Given the description of an element on the screen output the (x, y) to click on. 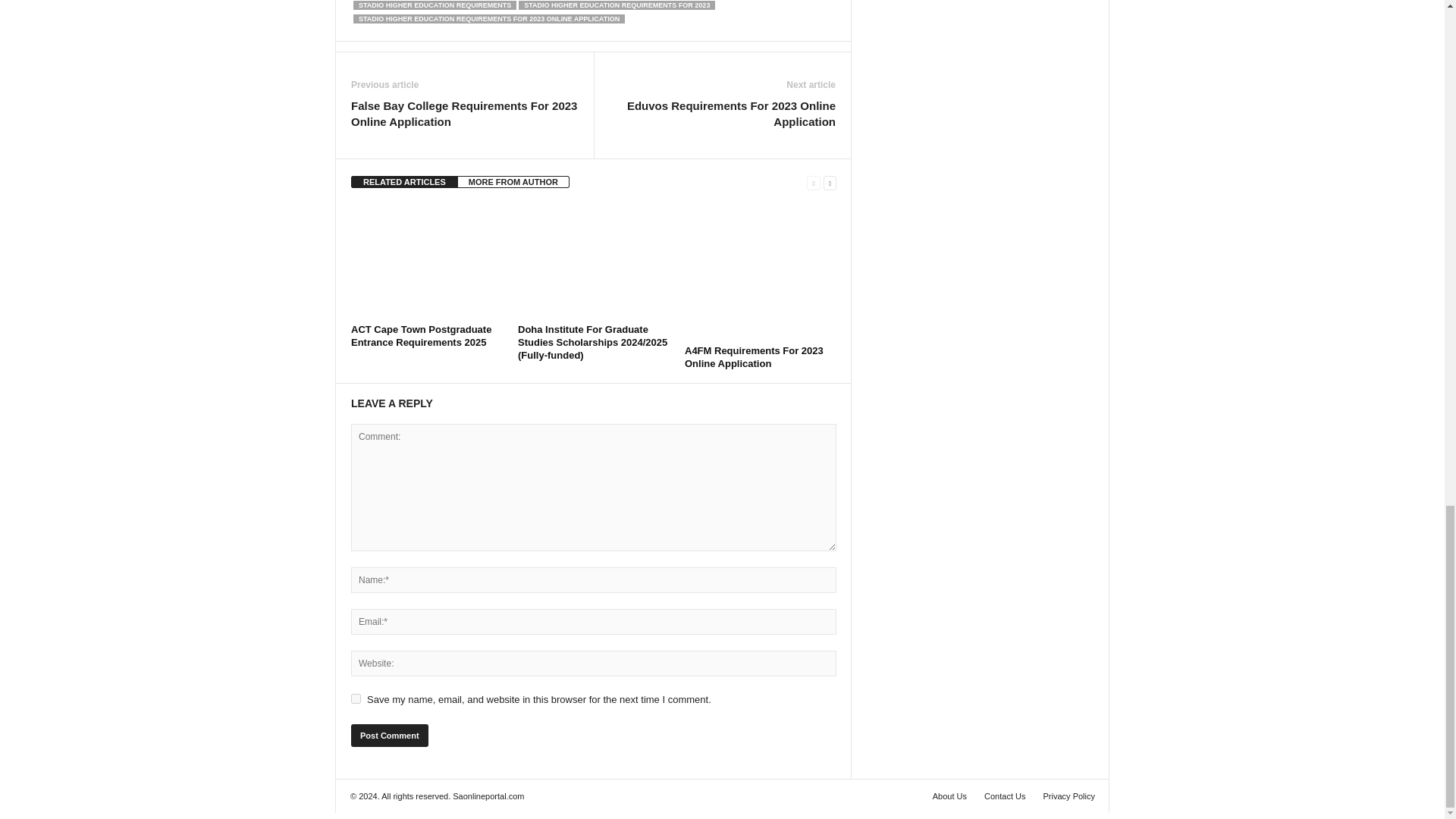
A4FM Requirements For 2023 Online Application (754, 356)
ACT Cape Town Postgraduate Entrance Requirements 2025 (421, 335)
A4FM Requirements For 2023 Online Application (759, 271)
Post Comment (389, 734)
ACT Cape Town Postgraduate Entrance Requirements 2025 (426, 261)
yes (355, 698)
